Given the description of an element on the screen output the (x, y) to click on. 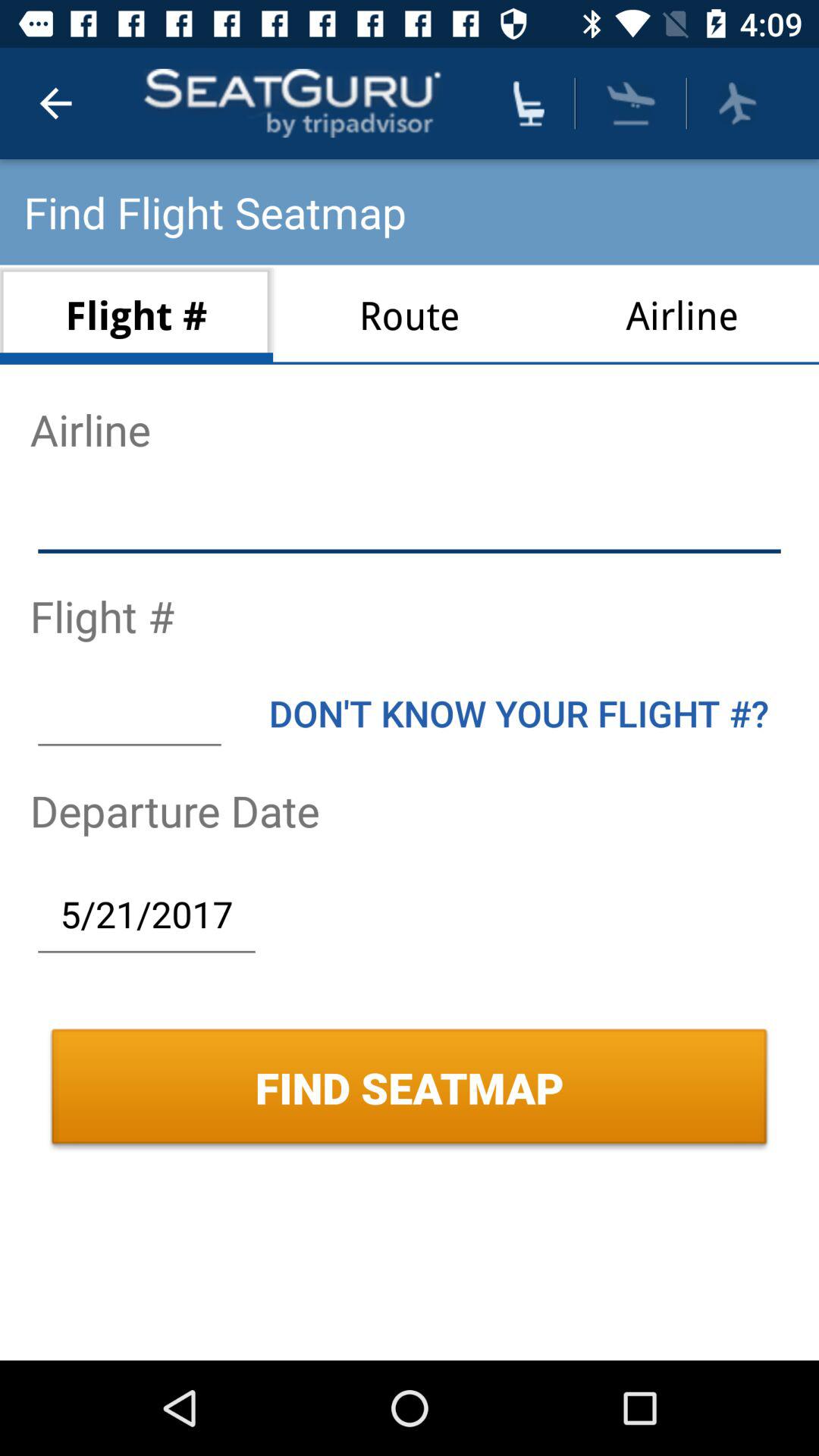
turn on icon next to airline icon (409, 314)
